Given the description of an element on the screen output the (x, y) to click on. 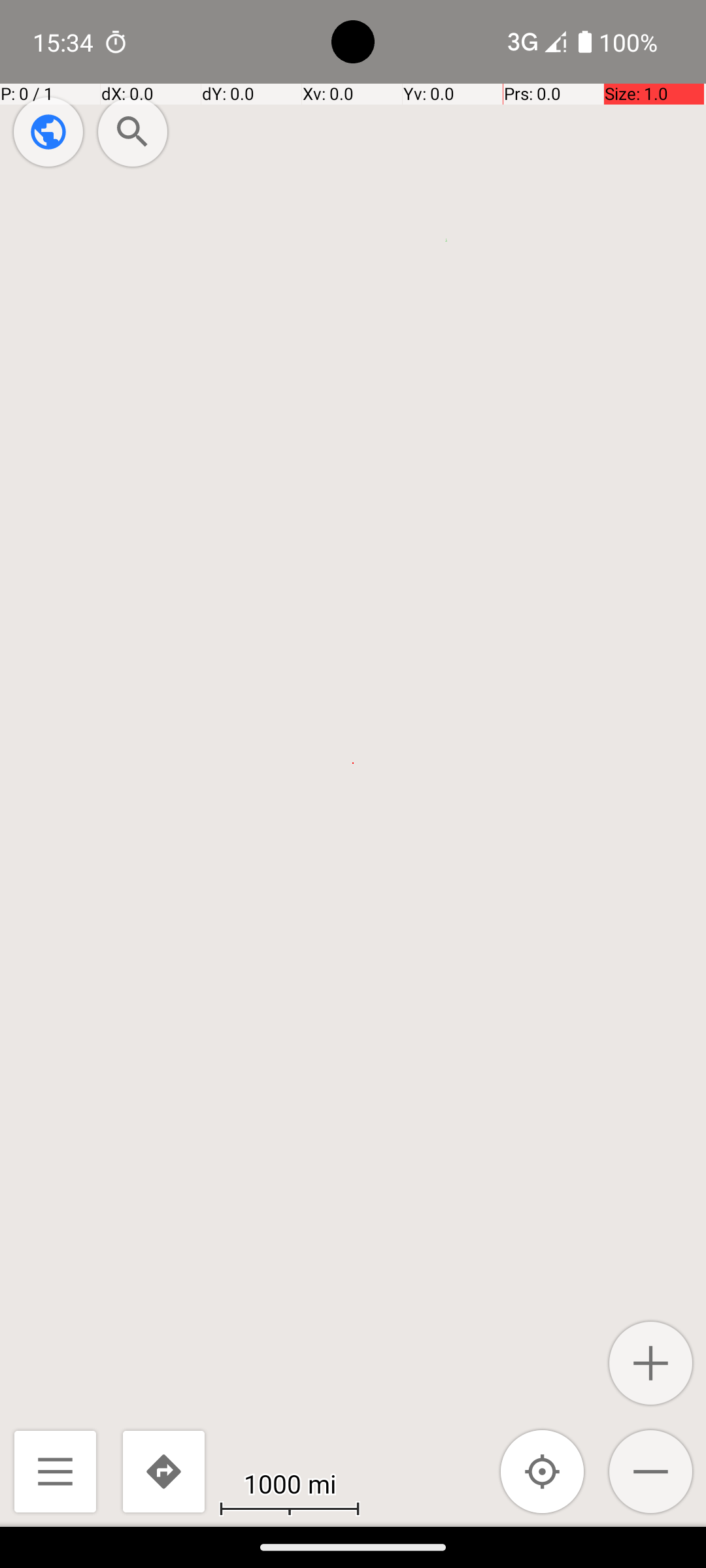
1000 mi Element type: android.widget.TextView (289, 1483)
